Given the description of an element on the screen output the (x, y) to click on. 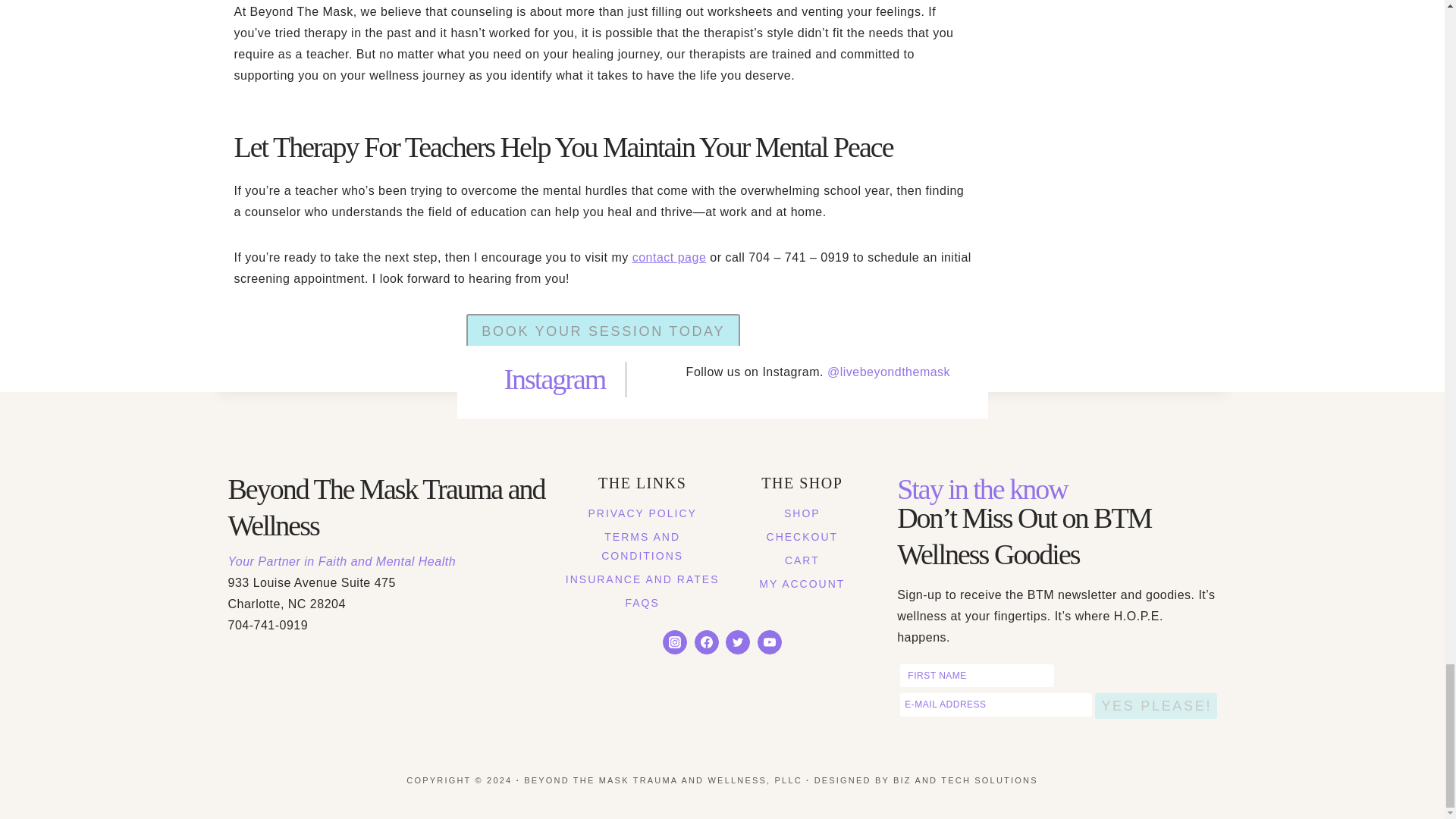
Yes Please! (1154, 705)
contact page (668, 256)
BOOK YOUR SESSION TODAY (602, 331)
